Given the description of an element on the screen output the (x, y) to click on. 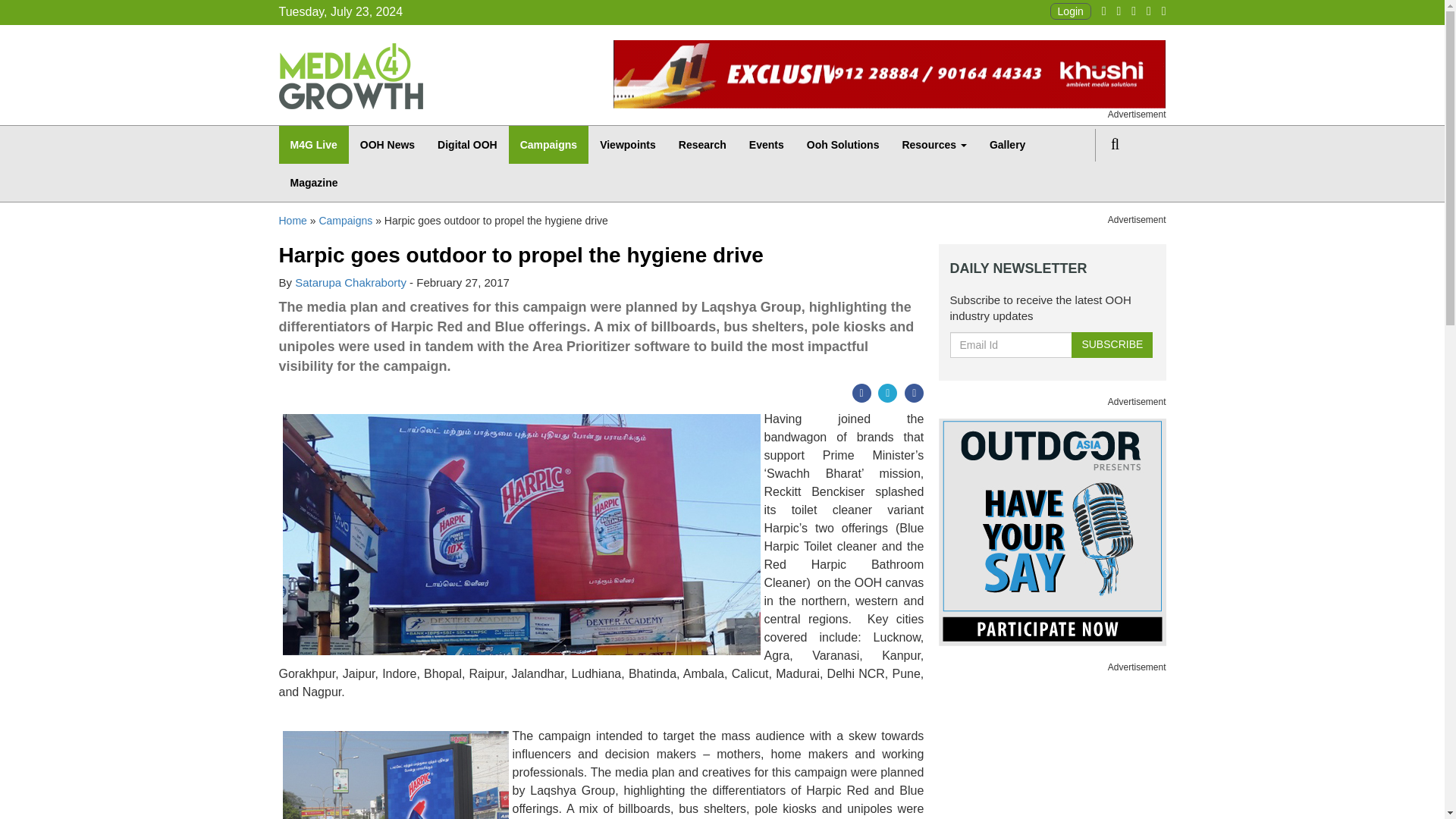
M4G Live (314, 144)
Campaigns (345, 220)
Satarupa Chakraborty (350, 282)
Gallery (1007, 144)
Resources (932, 144)
Magazine (314, 182)
OOH News (387, 144)
Campaigns (548, 144)
Login (1069, 11)
Viewpoints (627, 144)
Research (702, 144)
Ooh Solutions (842, 144)
Events (766, 144)
Have You Say (1052, 532)
Digital OOH (467, 144)
